Given the description of an element on the screen output the (x, y) to click on. 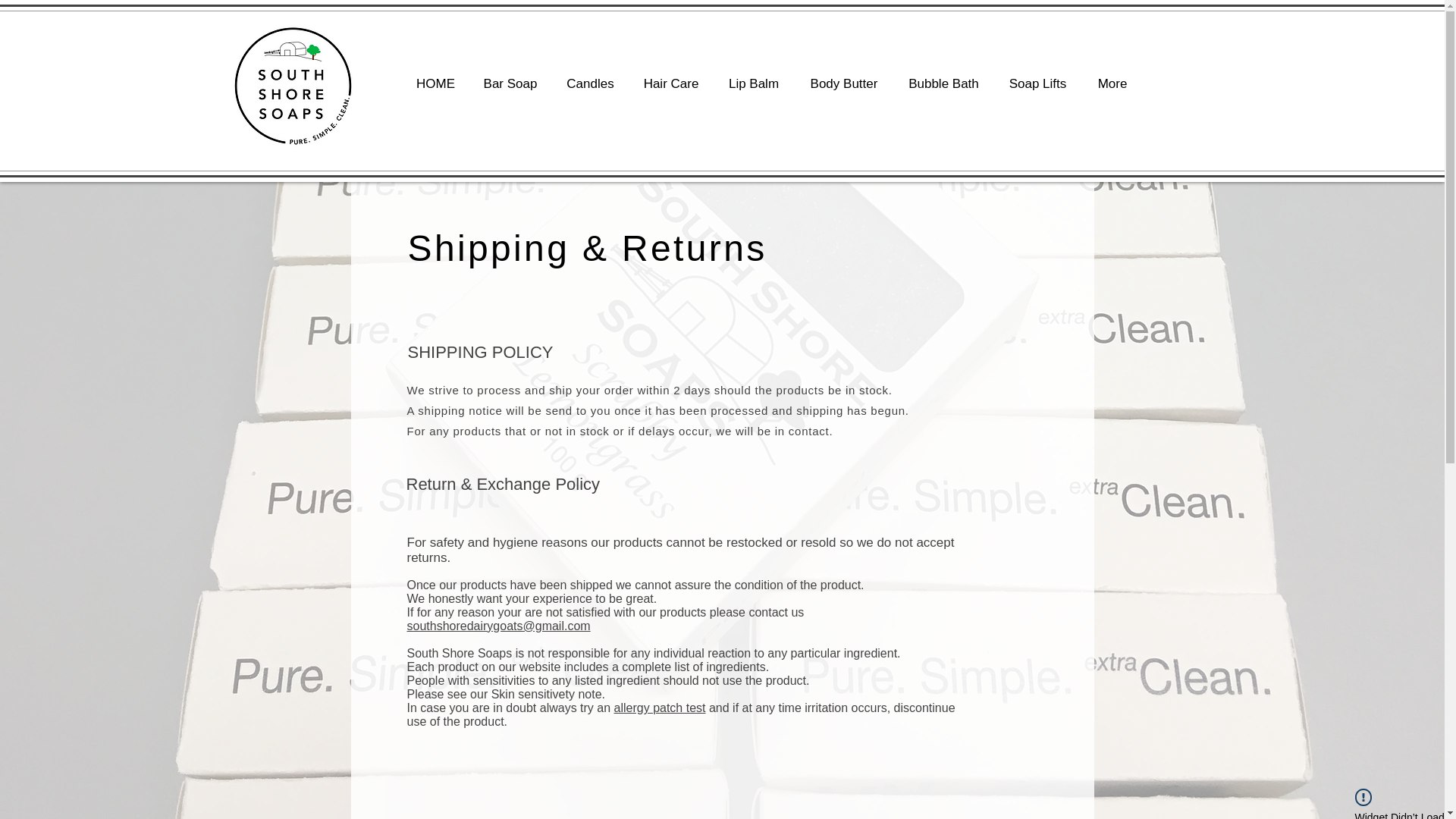
Smile.io Rewards Program Launcher (68, 780)
Bubble Bath (942, 77)
Soap Lifts (1036, 77)
Lip Balm (753, 77)
allergy patch test (660, 707)
Candles (589, 77)
Hair Care (670, 77)
Site Search (1122, 42)
Body Butter (843, 77)
HOME (434, 77)
South Shore logo V6.png (292, 85)
Bar Soap (509, 77)
